Given the description of an element on the screen output the (x, y) to click on. 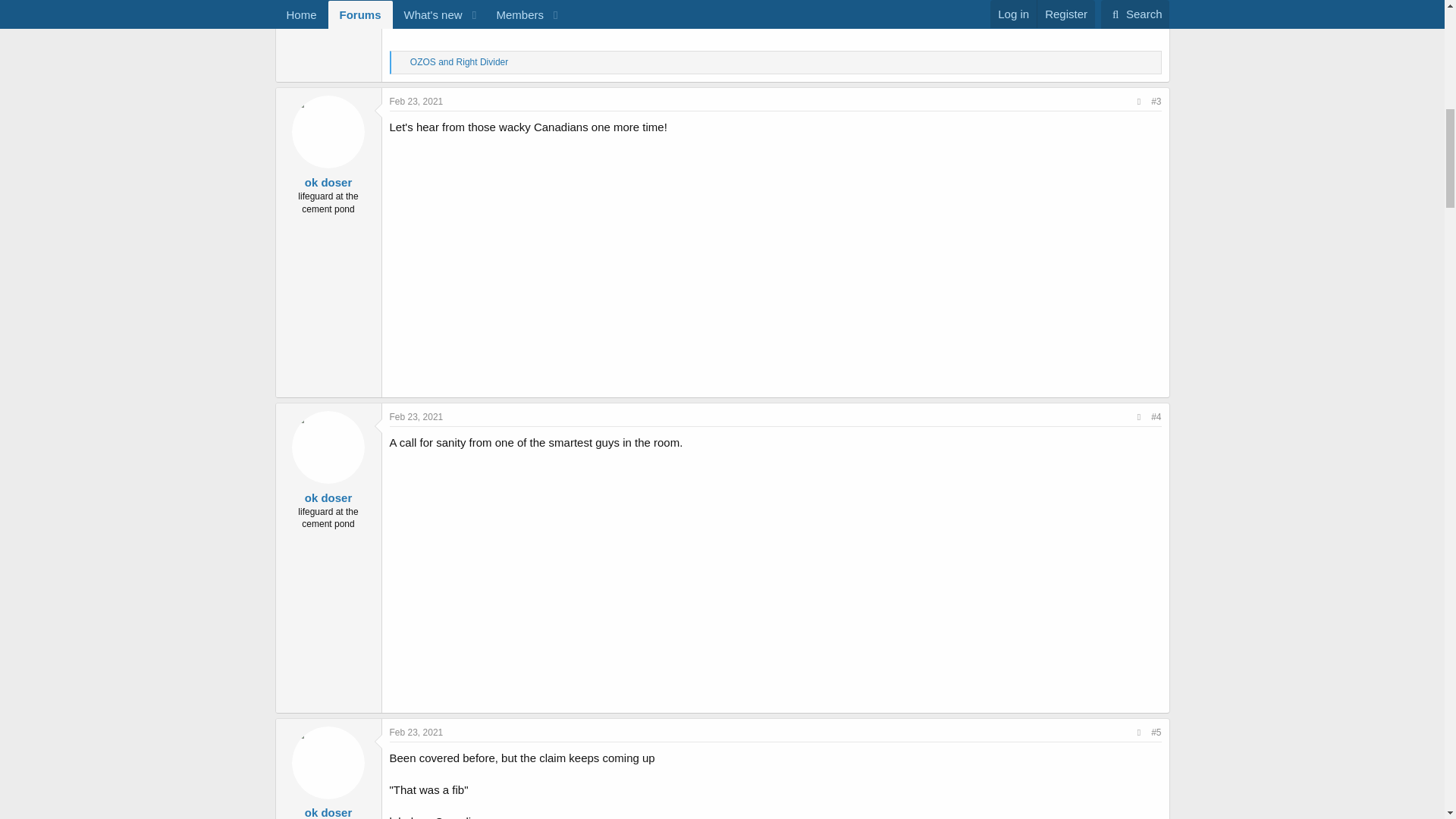
Like (401, 62)
Feb 23, 2021 at 10:31 PM (417, 732)
Feb 23, 2021 at 10:11 PM (417, 416)
Feb 23, 2021 at 9:44 PM (417, 101)
